Given the description of an element on the screen output the (x, y) to click on. 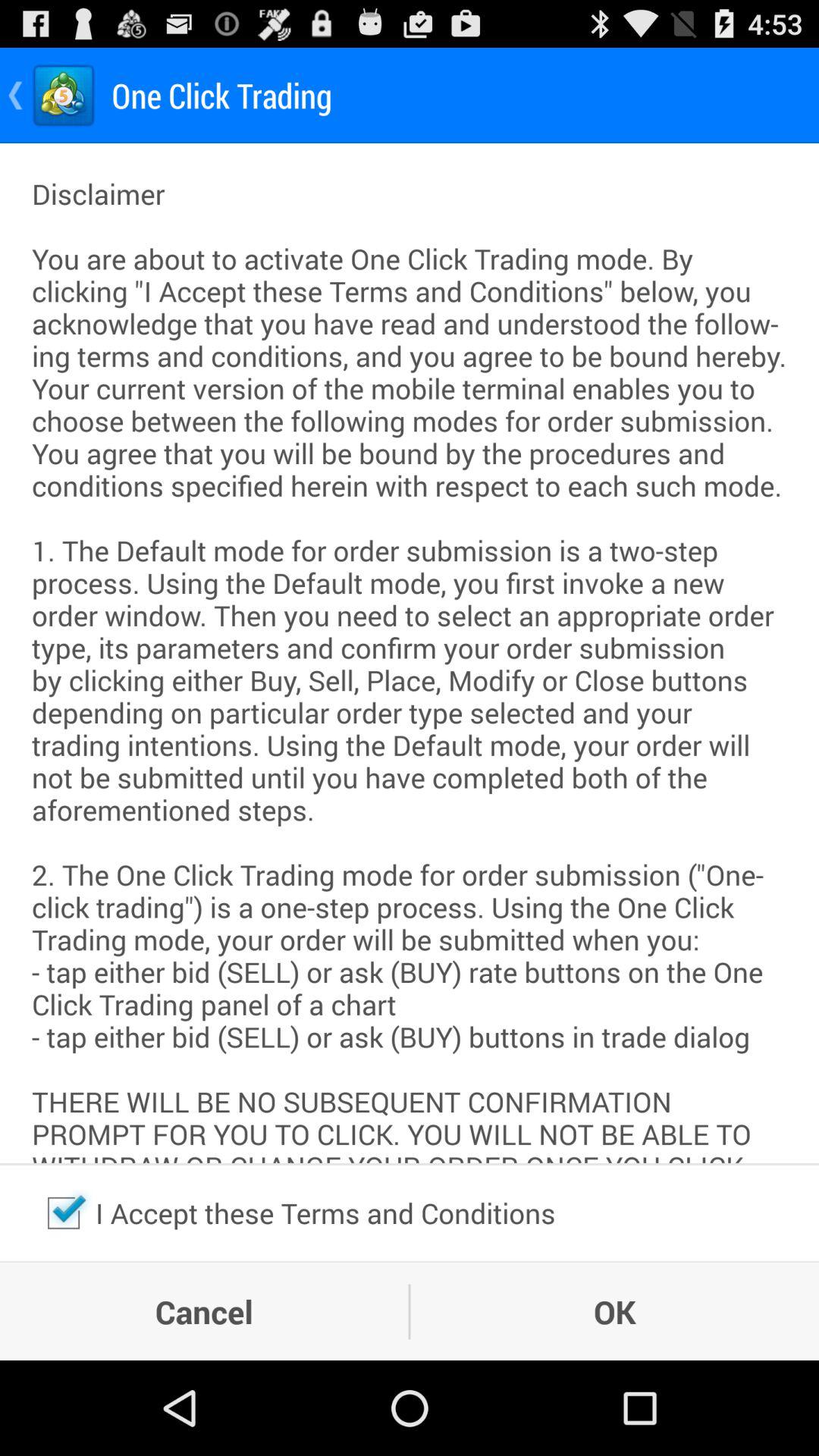
turn off item above the cancel item (63, 1212)
